Given the description of an element on the screen output the (x, y) to click on. 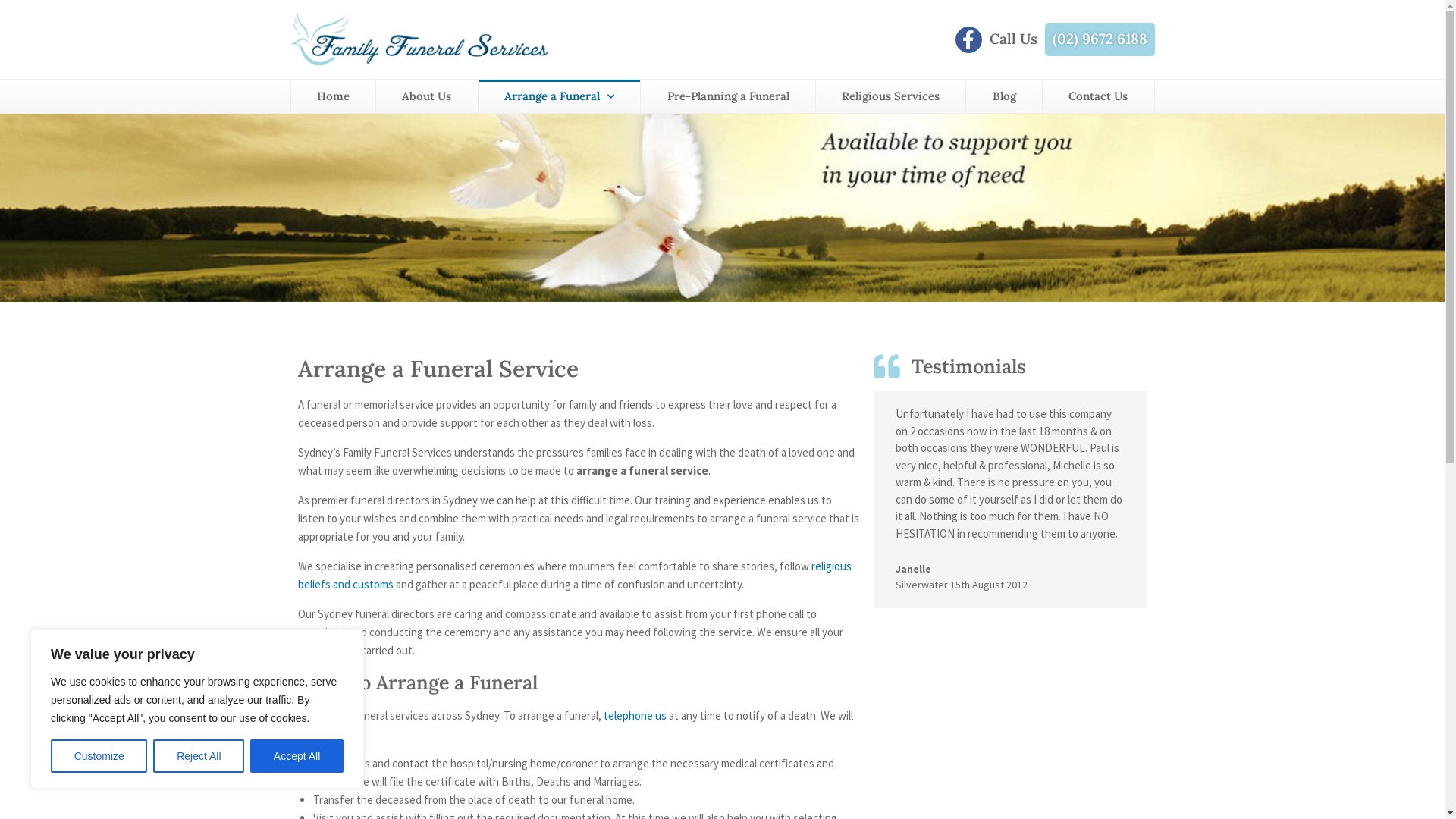
About Us Element type: text (426, 95)
Reject All Element type: text (198, 755)
Accept All Element type: text (296, 755)
Arrange a Funeral Element type: text (559, 95)
Pre-Planning a Funeral Element type: text (727, 95)
religious beliefs and customs Element type: text (573, 574)
Contact Us Element type: text (1098, 95)
telephone us Element type: text (634, 715)
Customize Element type: text (98, 755)
(02) 9672 6188 Element type: text (1099, 38)
Facebook-f Element type: text (968, 39)
Blog Element type: text (1003, 95)
Home Element type: text (333, 95)
Religious Services Element type: text (890, 95)
